Given the description of an element on the screen output the (x, y) to click on. 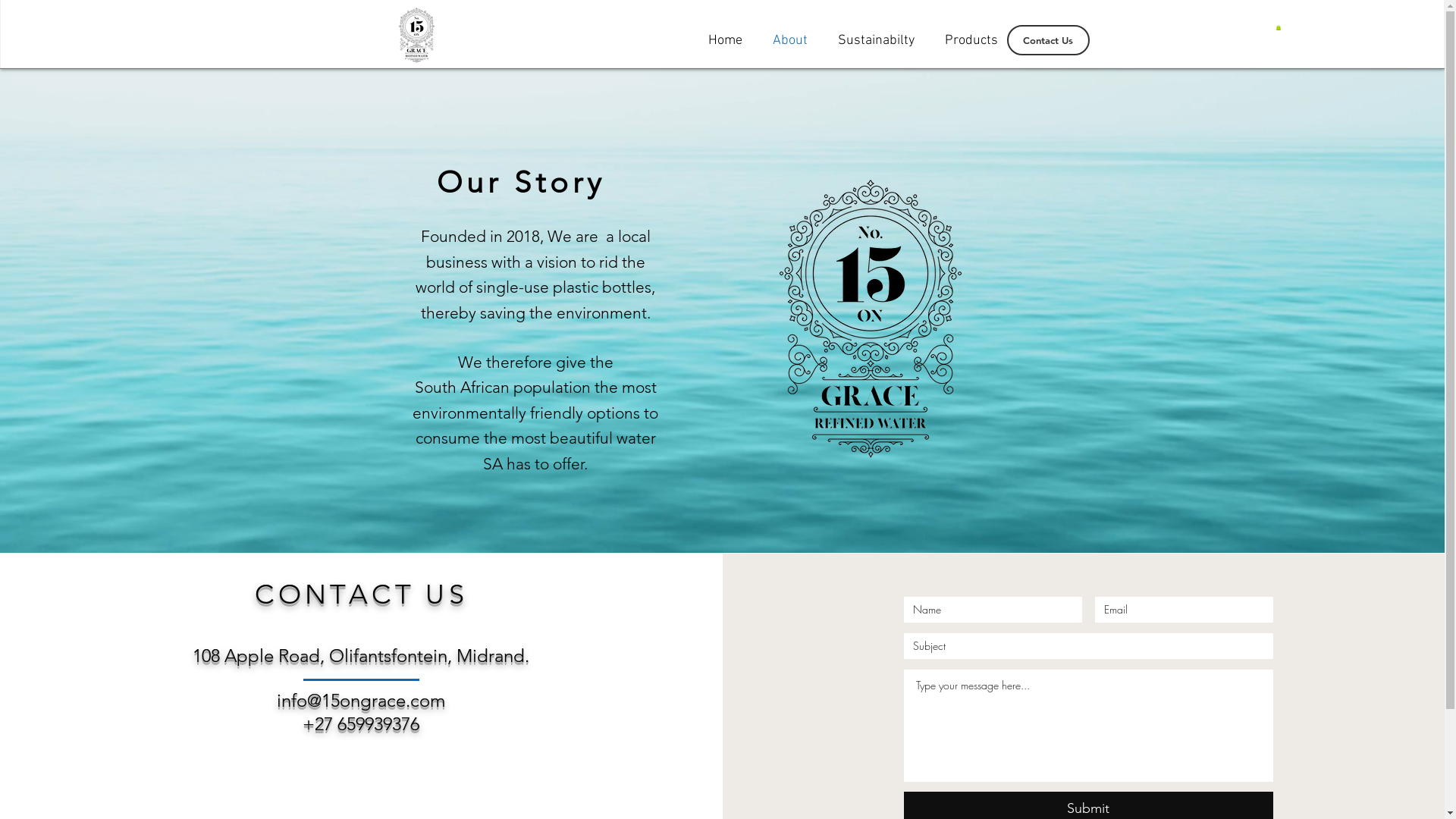
Sustainabilty Element type: text (875, 40)
Home Element type: text (725, 40)
info@15ongrace.com Element type: text (360, 700)
About Element type: text (789, 40)
0 Element type: text (1277, 27)
Contact Us Element type: text (1048, 40)
Products Element type: text (971, 40)
